Given the description of an element on the screen output the (x, y) to click on. 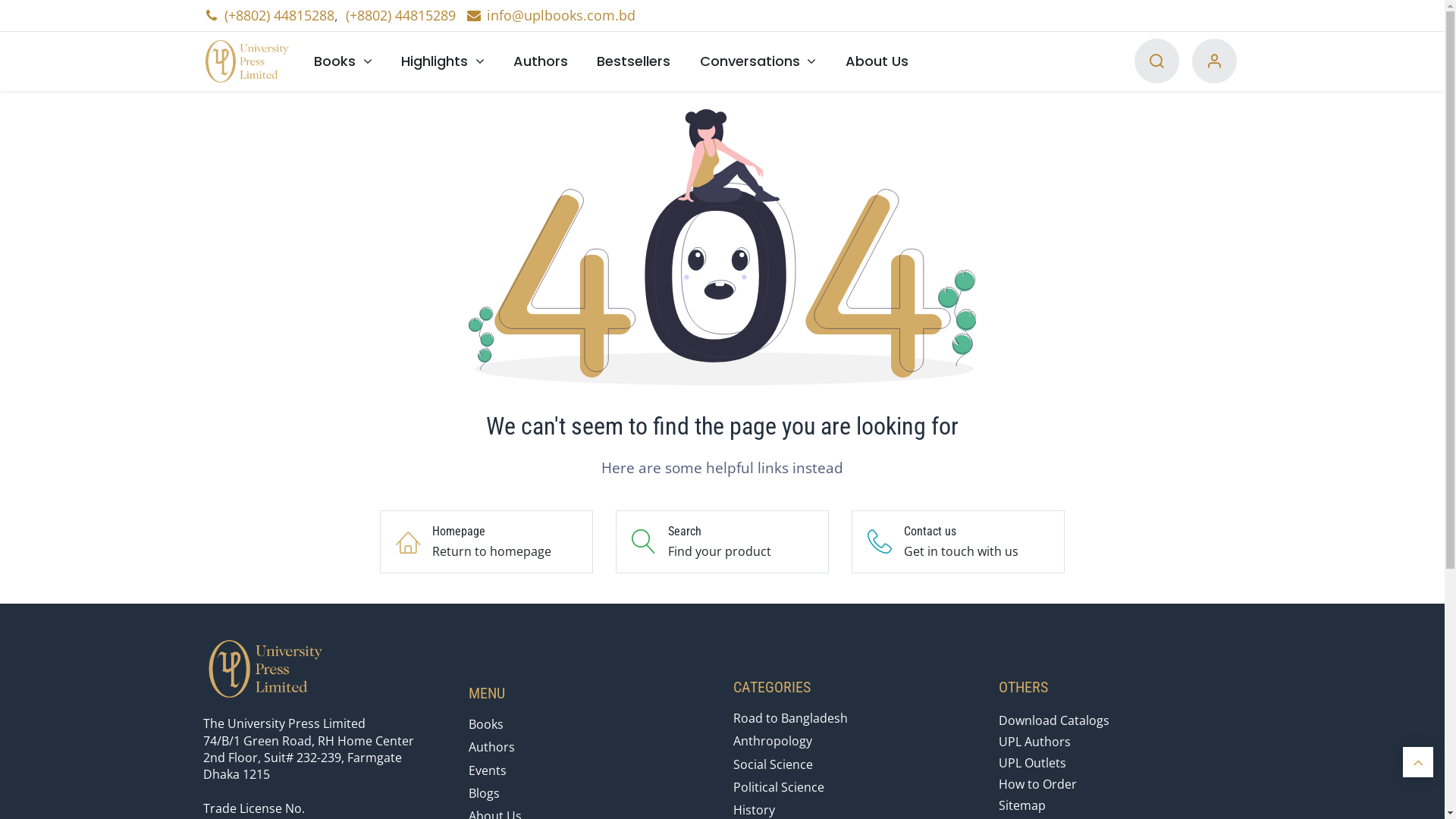
Social Science Element type: text (772, 764)
(+8802) 44815289 Element type: text (400, 15)
History Element type: text (754, 809)
UPL Outlets Element type: text (1032, 762)
Highlights Element type: text (442, 60)
How to Order Element type: text (1037, 783)
Books Element type: text (485, 723)
Download Catalogs Element type: text (1053, 720)
About Us Element type: text (876, 60)
Contact us
Get in touch with us Element type: text (957, 541)
Authors Element type: text (491, 746)
Events Element type: text (487, 770)
Books Element type: text (342, 60)
Road to Bangladesh Element type: text (790, 717)
Conversations Element type: text (758, 60)
The University Press Limited Element type: hover (251, 61)
Bestsellers Element type: text (633, 60)
Anthropology Element type: text (772, 740)
info@uplbooks.com.bd Element type: text (550, 15)
(+8802) 44815288 Element type: text (279, 15)
UPL Authors Element type: text (1034, 741)
Blogs Element type: text (483, 792)
Homepage
Return to homepage Element type: text (486, 541)
Sitemap Element type: text (1021, 805)
Scroll back to top Element type: hover (1417, 761)
Political Science Element type: text (778, 786)
Authors Element type: text (540, 60)
Search
Find your product Element type: text (721, 541)
